Given the description of an element on the screen output the (x, y) to click on. 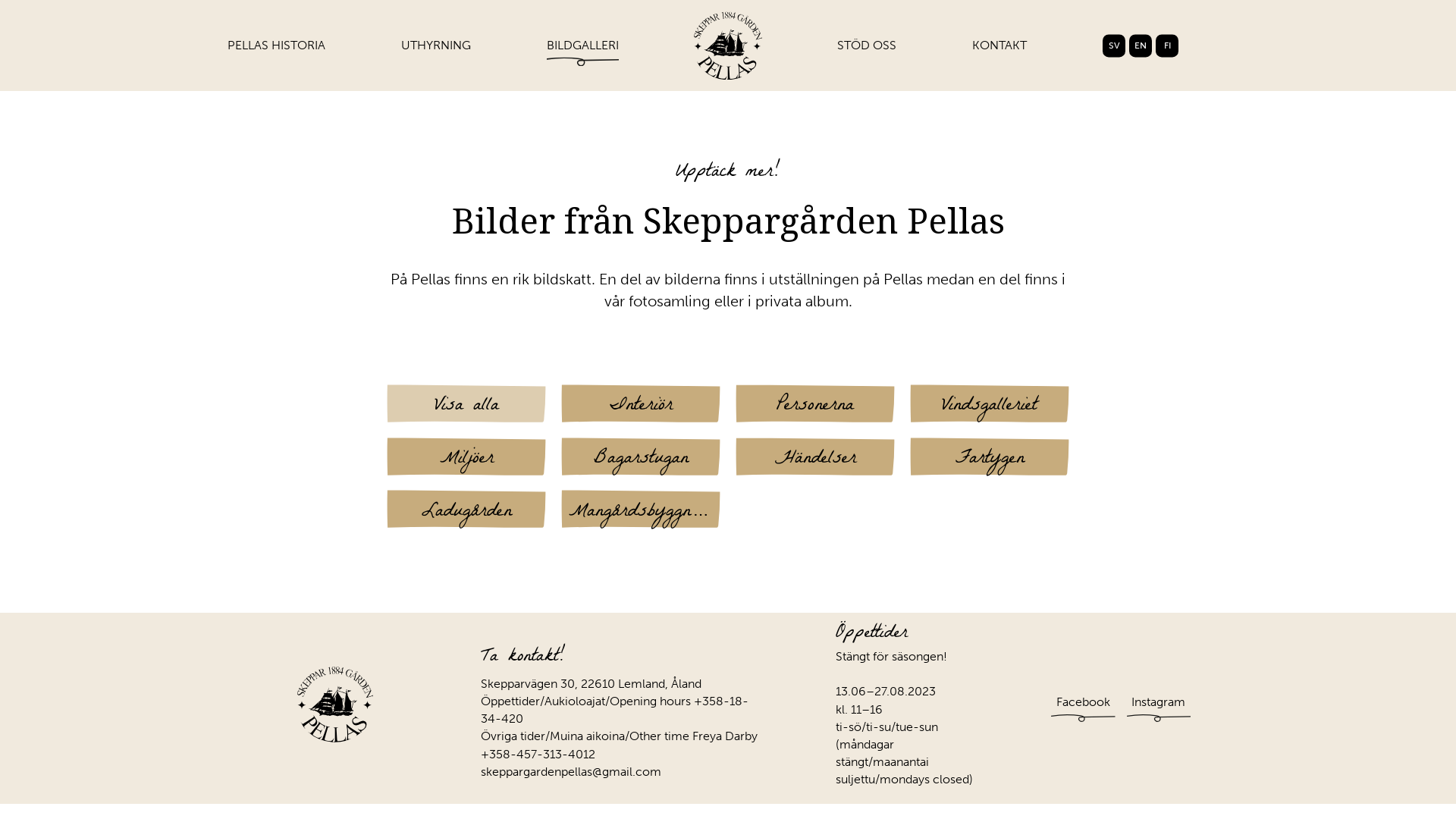
FI Element type: text (1166, 45)
Fartygen Element type: text (989, 456)
EN Element type: text (1140, 45)
Visa alla Element type: text (466, 403)
Instagram Element type: text (1158, 701)
Bagarstugan Element type: text (640, 456)
Vindsgalleriet Element type: text (989, 403)
SV Element type: text (1113, 45)
skeppargardenpellas@gmail.com Element type: text (570, 771)
Facebook Element type: text (1083, 701)
Personerna Element type: text (814, 403)
KONTAKT Element type: text (999, 52)
BILDGALLERI Element type: text (582, 52)
UTHYRNING Element type: text (435, 52)
PELLAS HISTORIA Element type: text (276, 52)
